Given the description of an element on the screen output the (x, y) to click on. 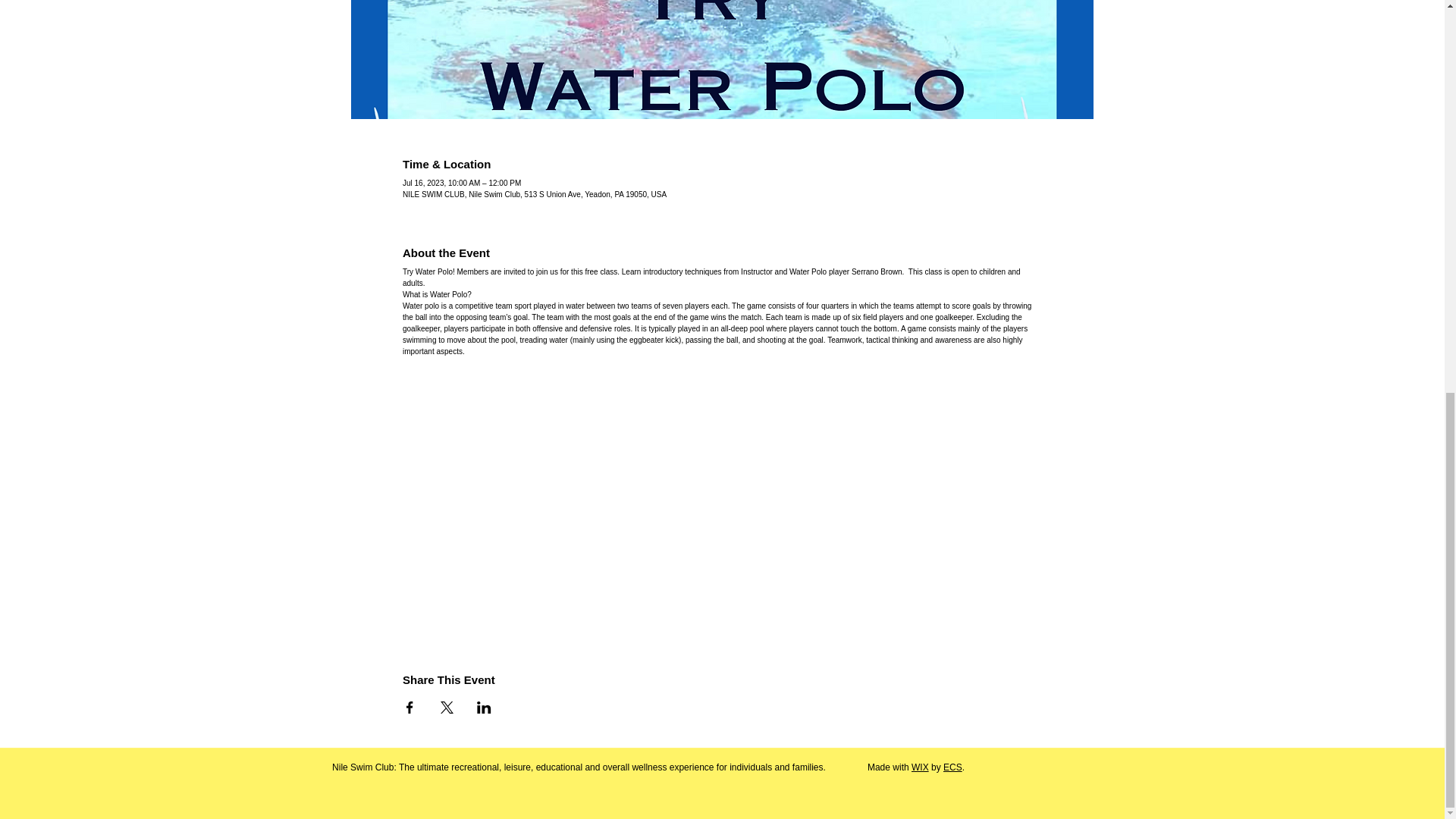
ECS (952, 767)
WIX (919, 767)
